Given the description of an element on the screen output the (x, y) to click on. 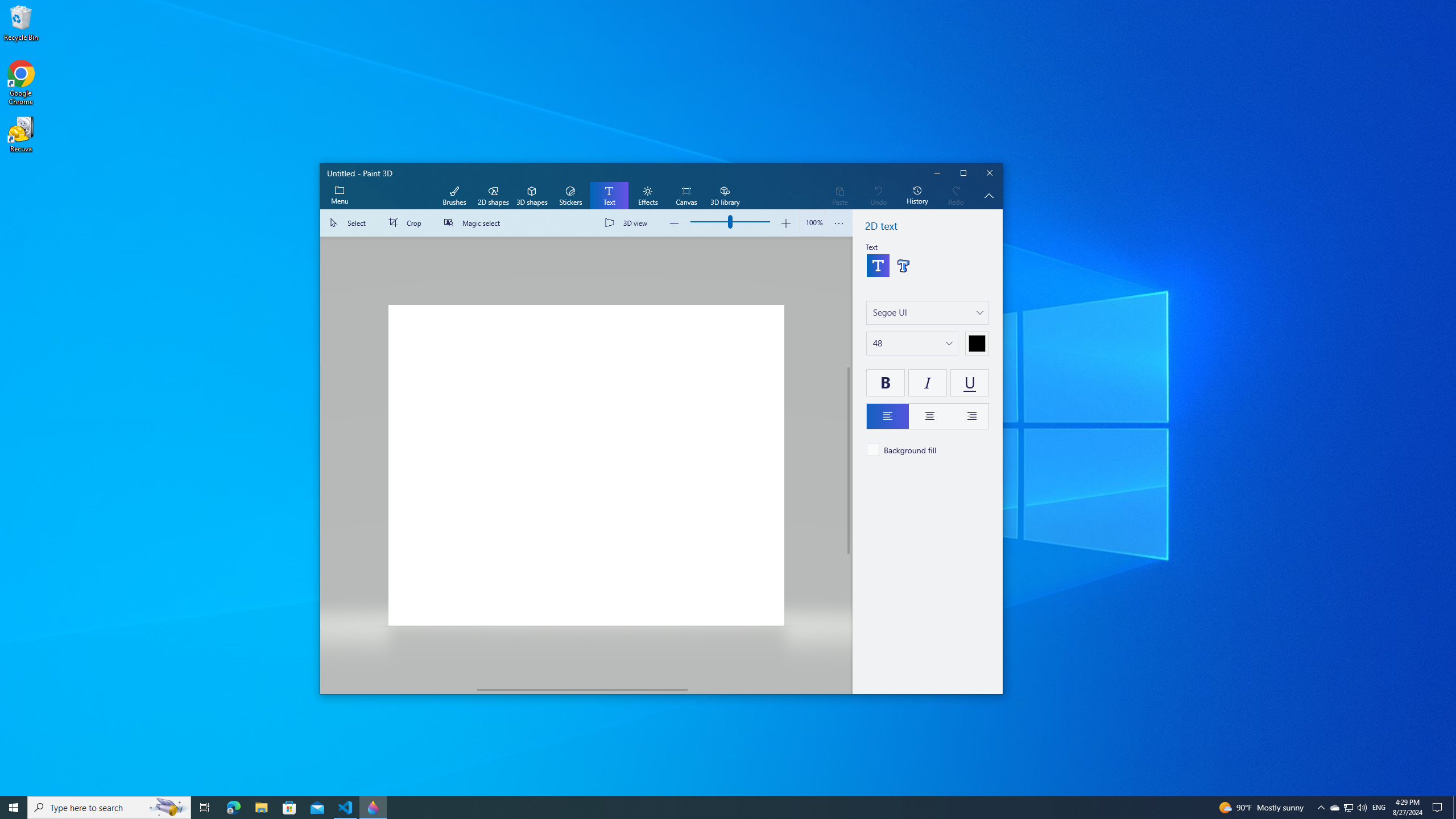
Right align text (969, 416)
Vertical (848, 460)
Paste (840, 195)
2D shapes (492, 195)
Bold your text (885, 382)
Brushes (454, 195)
Zoom slider (812, 222)
48 (877, 342)
Zoom out (674, 222)
Horizontal Large Increase (765, 689)
Effects (647, 195)
